Given the description of an element on the screen output the (x, y) to click on. 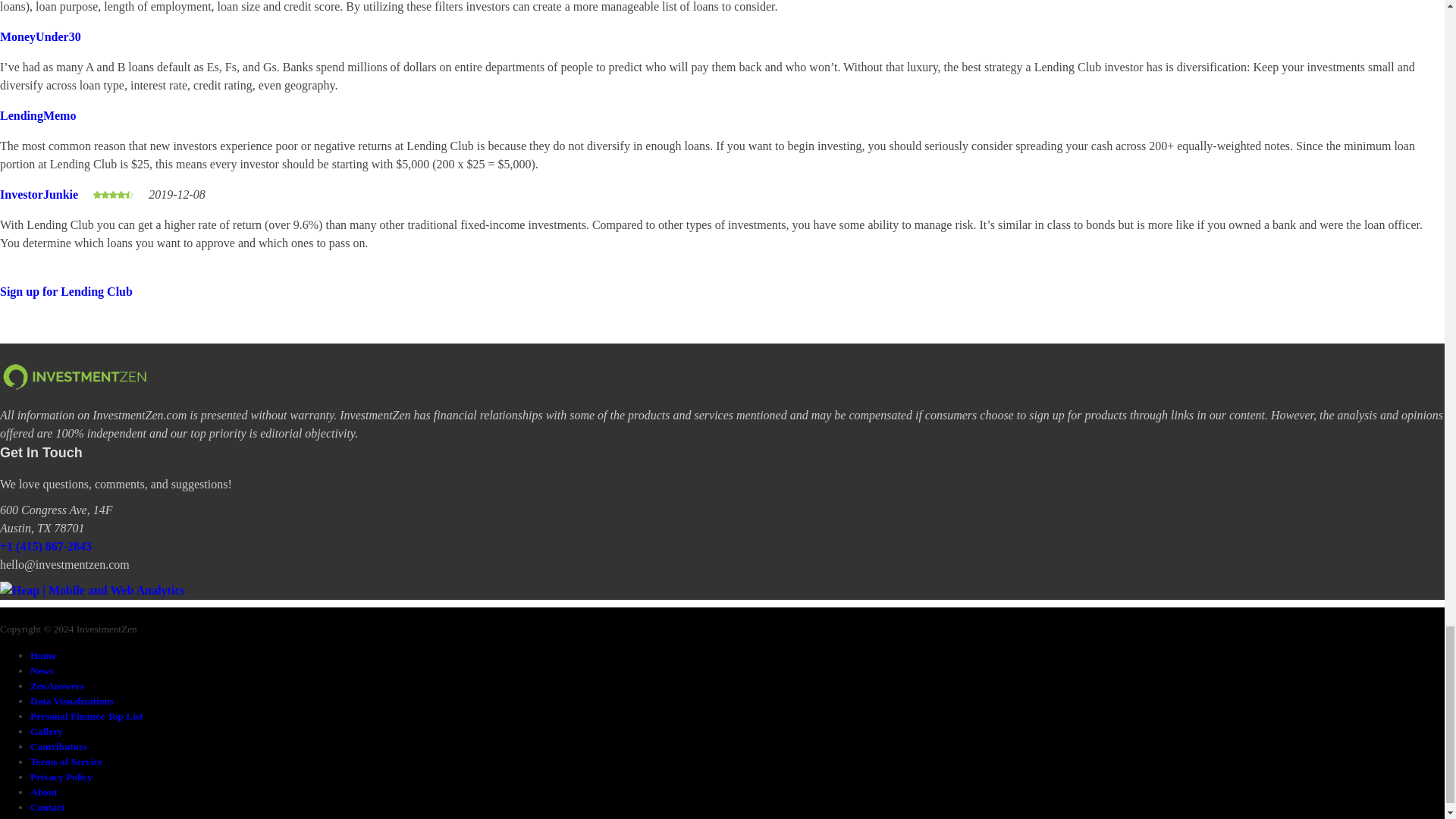
Average review 4.5 (113, 194)
